Given the description of an element on the screen output the (x, y) to click on. 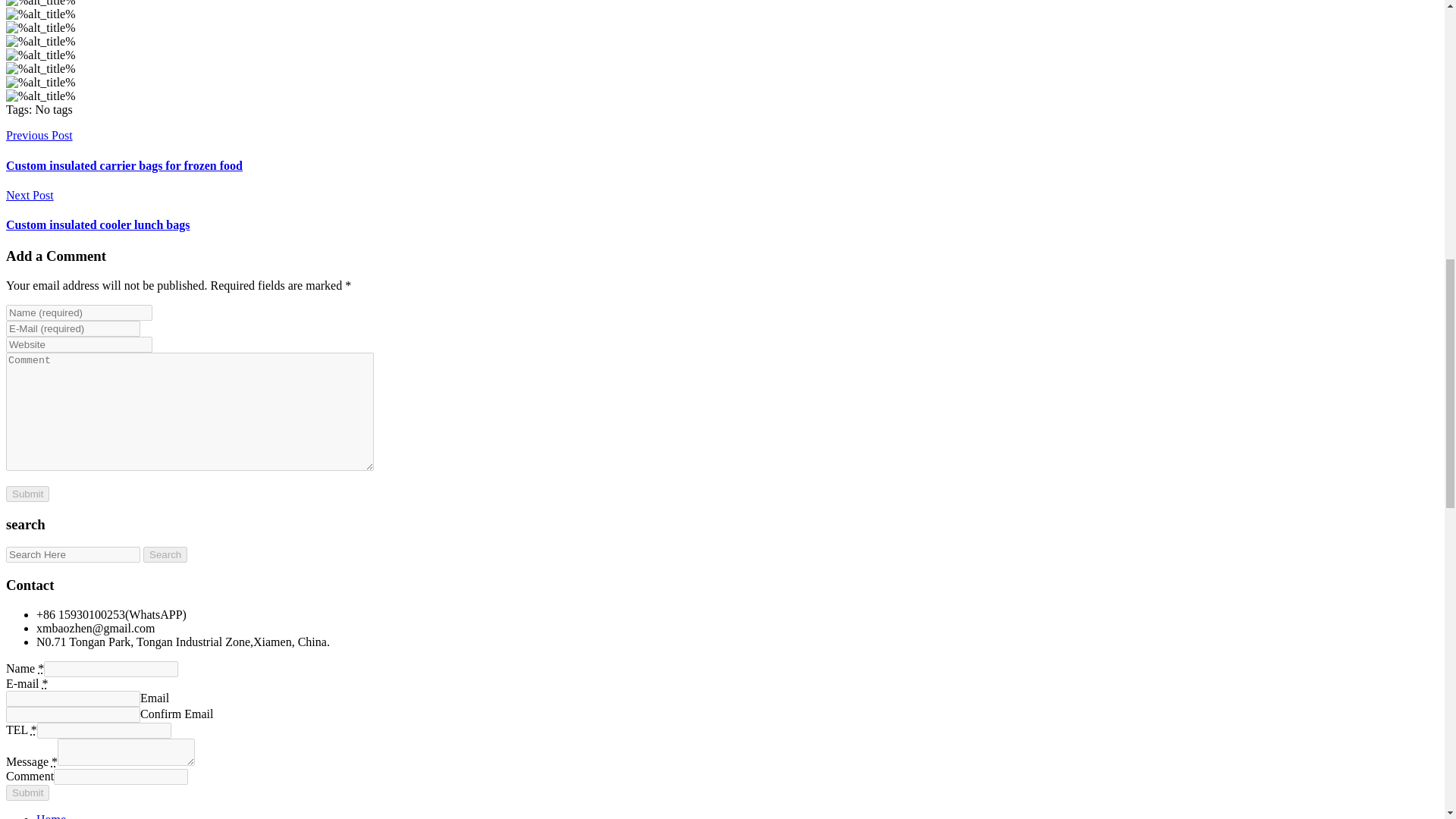
Search (164, 554)
Submit (27, 494)
Site Header (40, 96)
Search (164, 554)
Site Header (40, 55)
Site Header (40, 82)
Submit (27, 494)
Site Header (40, 28)
Submit (27, 792)
Site Header (40, 69)
Site Header (40, 3)
Site Header (40, 14)
Site Header (40, 41)
Home (50, 816)
